Given the description of an element on the screen output the (x, y) to click on. 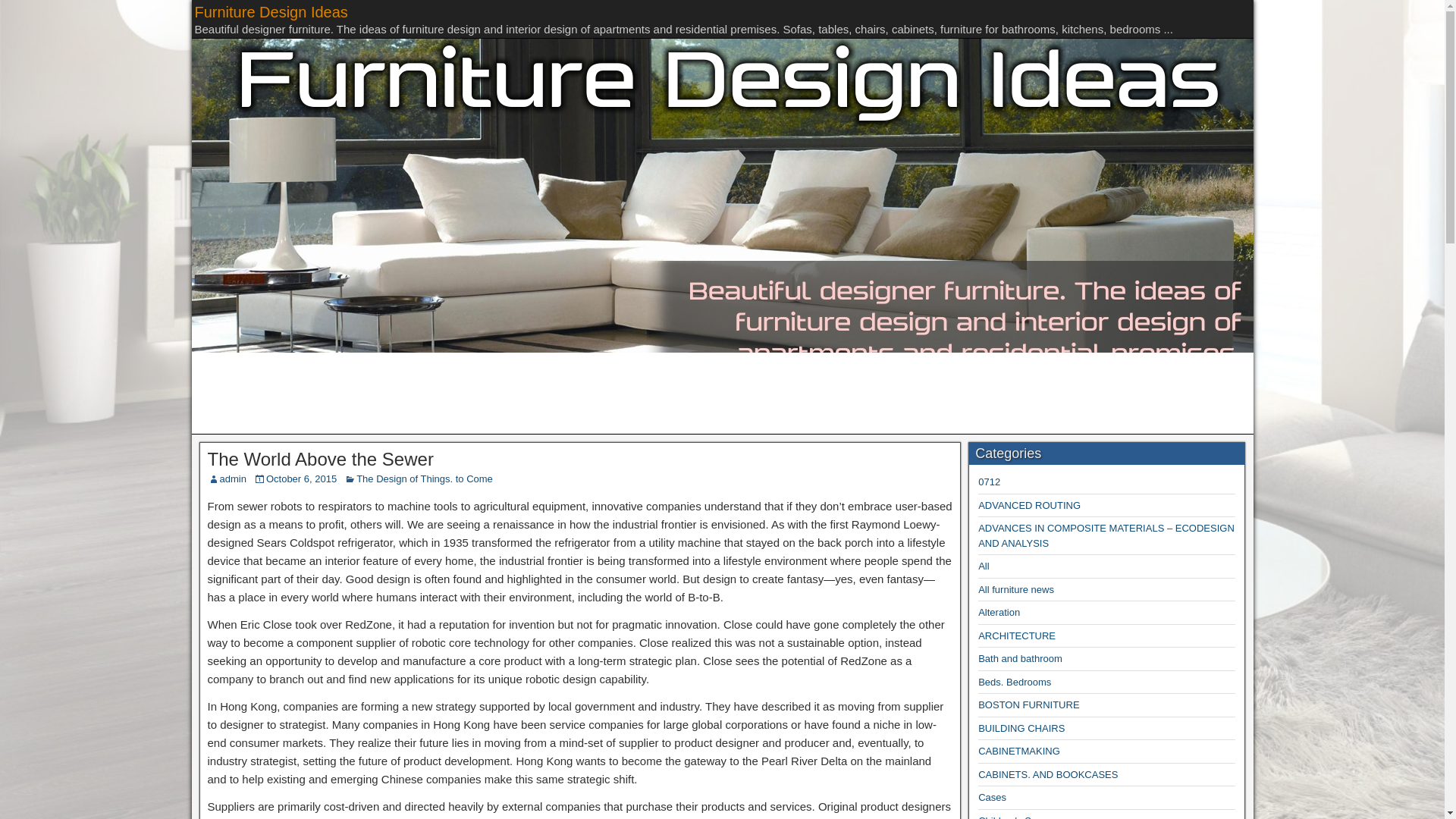
Beds. Bedrooms (1014, 681)
BOSTON FURNITURE (1028, 704)
All (983, 565)
All furniture news (1016, 589)
Children's Spaces (1017, 816)
Alteration (999, 612)
ARCHITECTURE (1016, 635)
Furniture Design Ideas (270, 12)
admin (232, 478)
ADVANCED ROUTING (1029, 505)
